Given the description of an element on the screen output the (x, y) to click on. 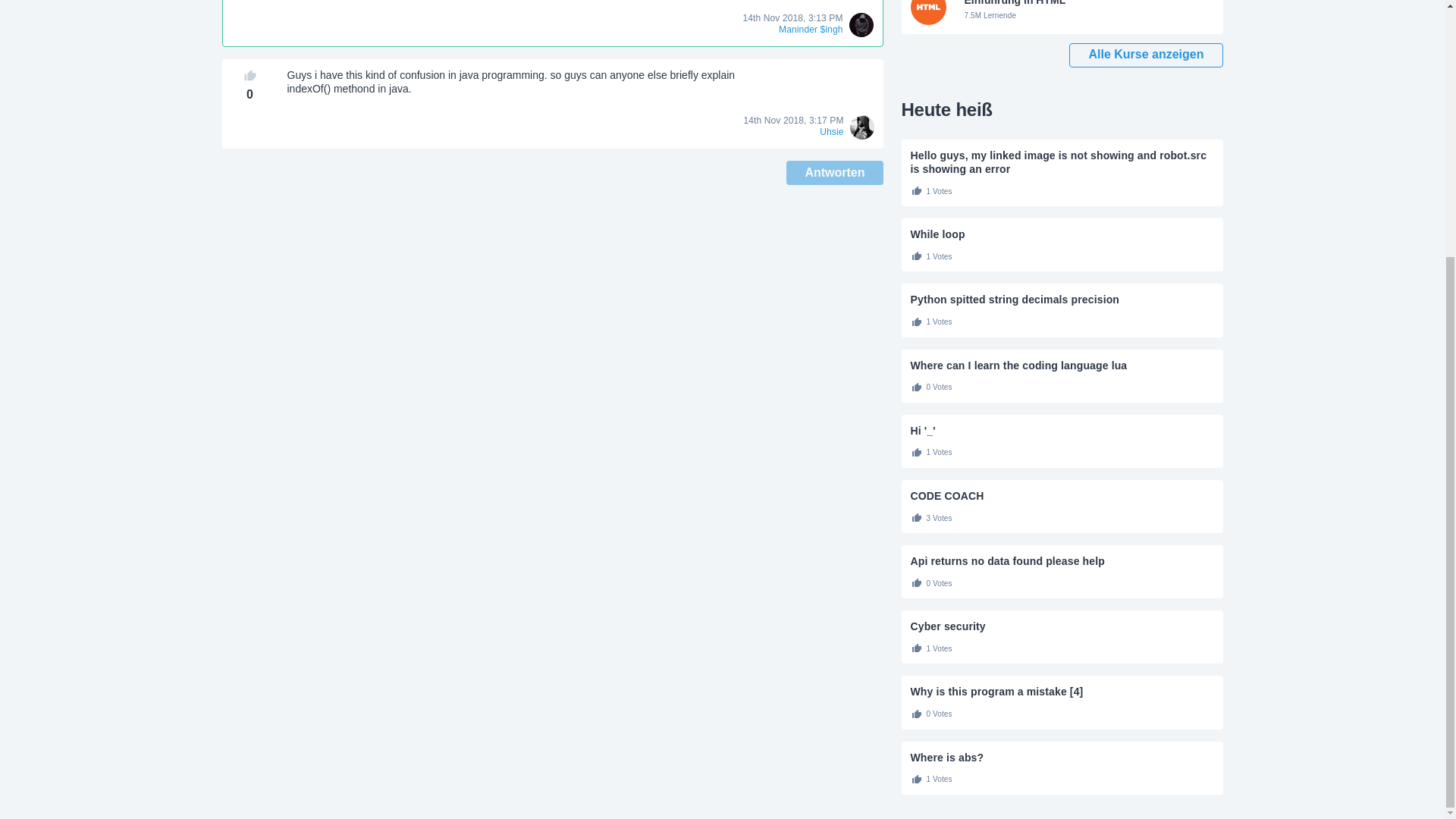
CODE COACH (1061, 495)
Api returns no data found please help (1061, 561)
Cyber security (1061, 626)
While loop (1061, 233)
Where can I learn the coding language lua (1061, 365)
Antworten (834, 172)
Alle Kurse anzeigen (1145, 55)
Where is abs? (1061, 757)
Python spitted string decimals precision (1061, 299)
